Given the description of an element on the screen output the (x, y) to click on. 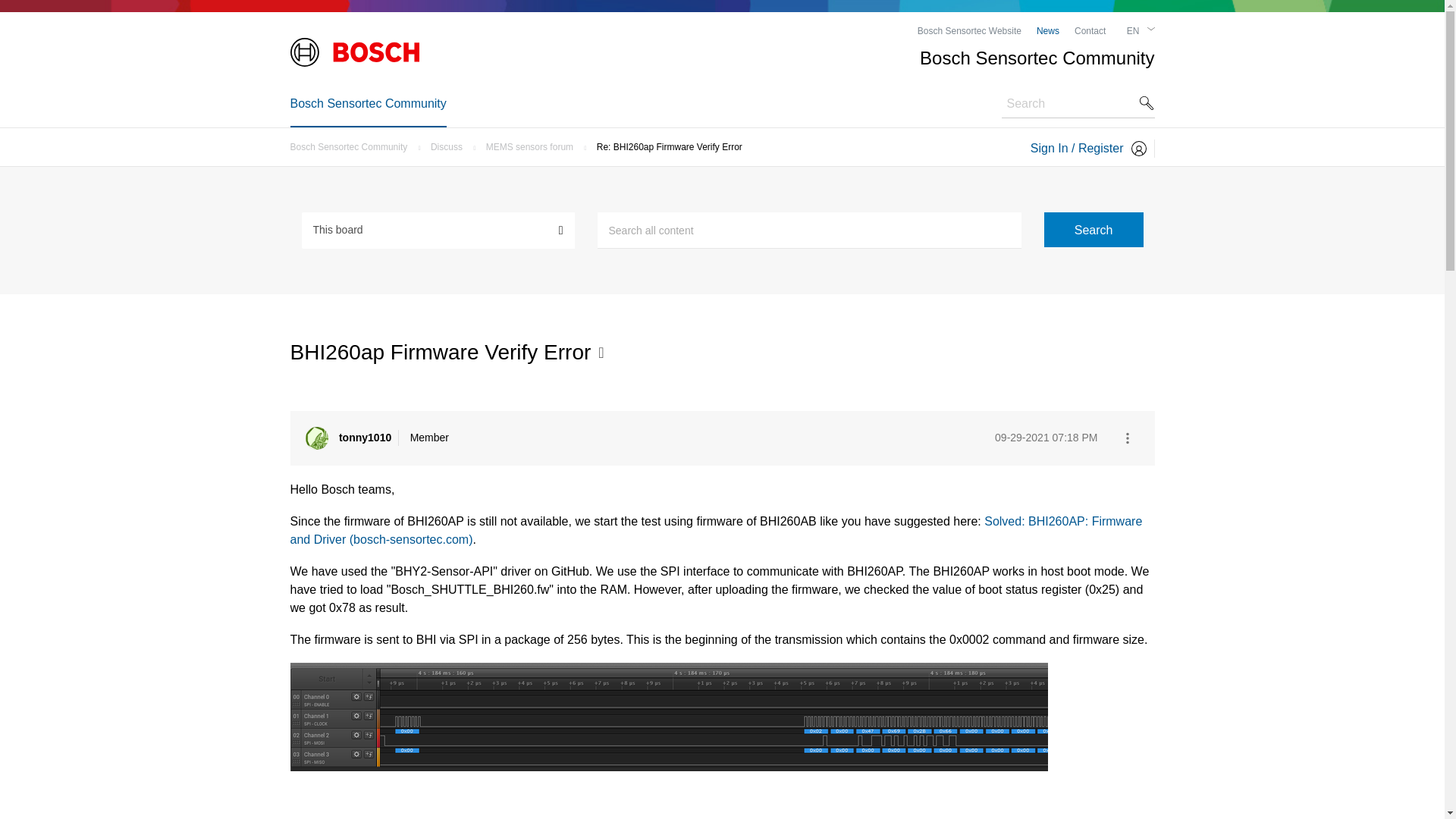
Search (809, 230)
Icon arrow-down-thin (1150, 28)
tonny1010 (315, 437)
Bosch Sensortec Community (351, 146)
Search (1092, 229)
Bosch Sensortec Website (969, 30)
Contact (1089, 30)
Bosch Sensortec Community (367, 103)
MEMS sensors forum (533, 146)
Search Granularity (438, 229)
Discuss (450, 146)
Search (1092, 229)
